Given the description of an element on the screen output the (x, y) to click on. 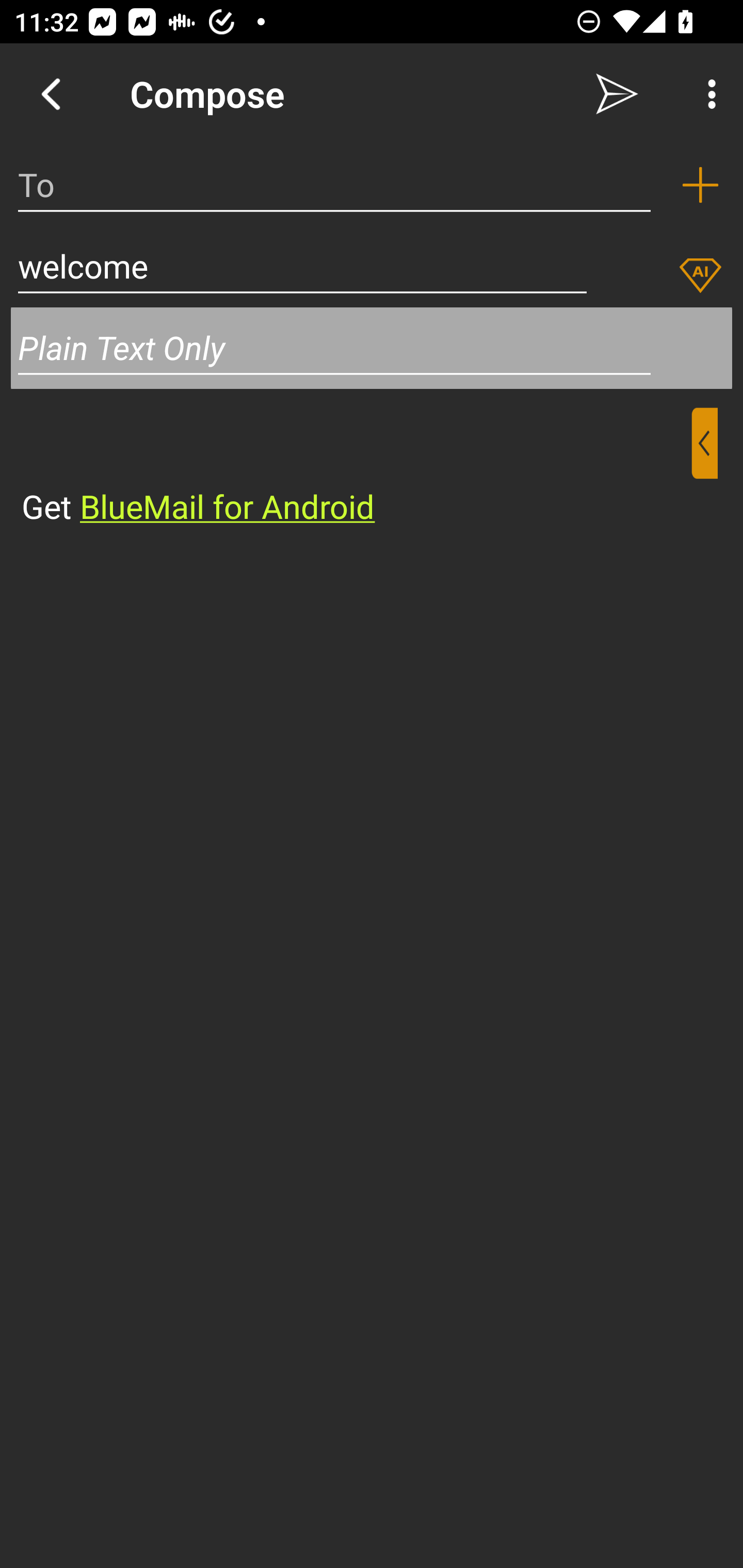
Navigate up (50, 93)
Send (616, 93)
More Options (706, 93)
To (334, 184)
Add recipient (To) (699, 184)
welcome (302, 266)
Plain Text Only (371, 347)


⁣Get BlueMail for Android ​ (355, 468)
